Given the description of an element on the screen output the (x, y) to click on. 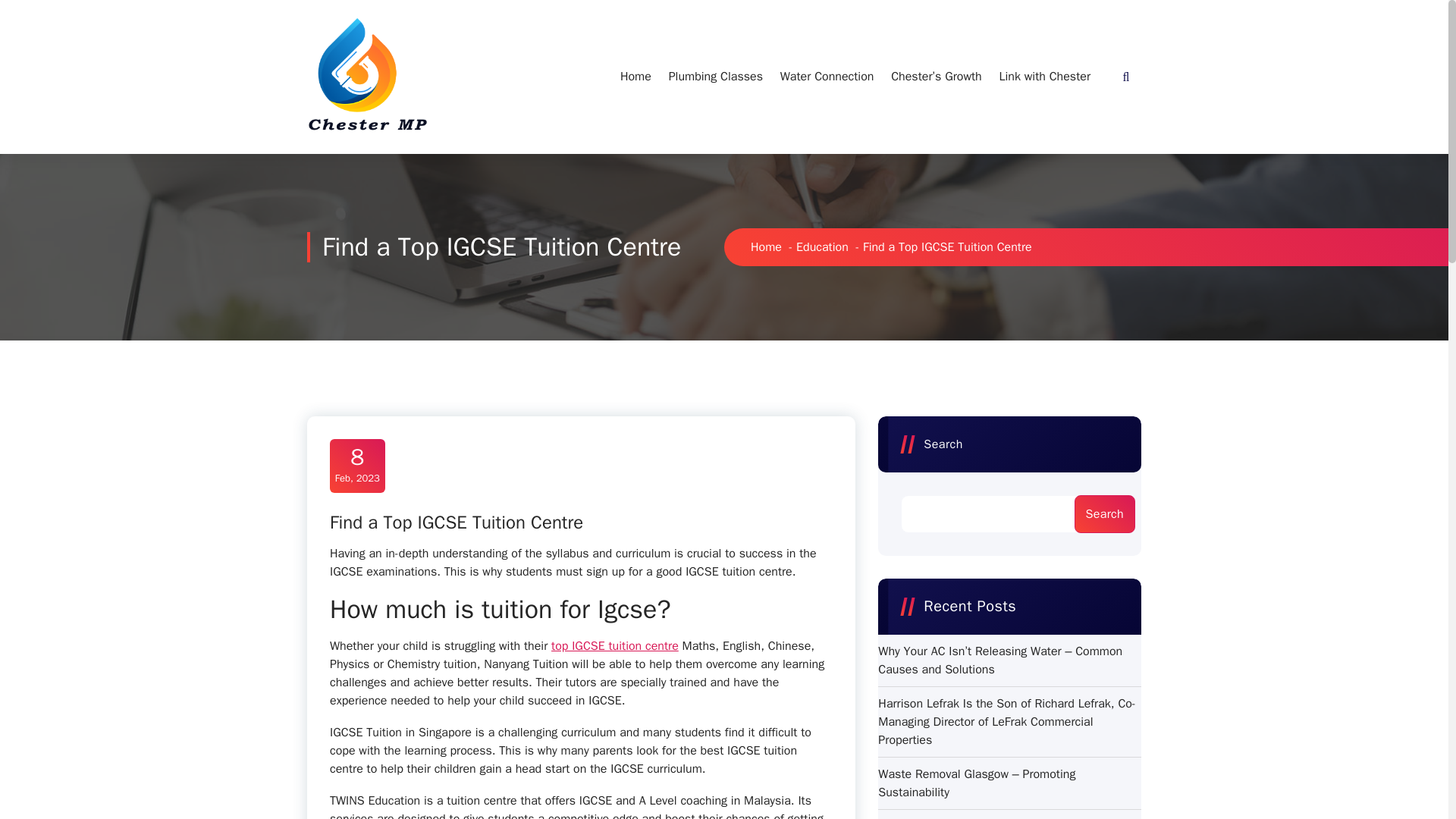
Plumbing Classes (715, 76)
Link with Chester (1044, 76)
Search (1104, 514)
Education (822, 246)
Home (636, 76)
Plumbing Classes (715, 76)
Home (766, 246)
top IGCSE tuition centre (614, 645)
